Given the description of an element on the screen output the (x, y) to click on. 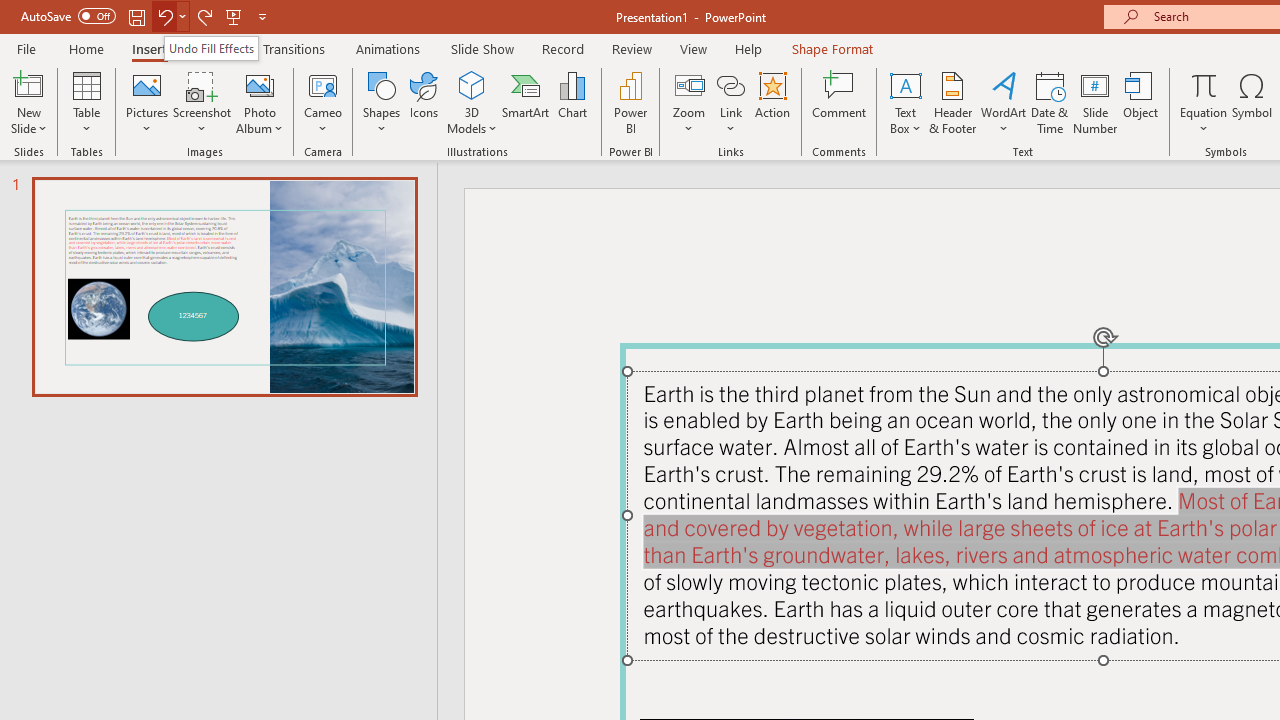
Power BI (630, 102)
Photo Album... (259, 102)
Date & Time... (1050, 102)
Icons (424, 102)
Table (86, 102)
SmartArt... (525, 102)
